Given the description of an element on the screen output the (x, y) to click on. 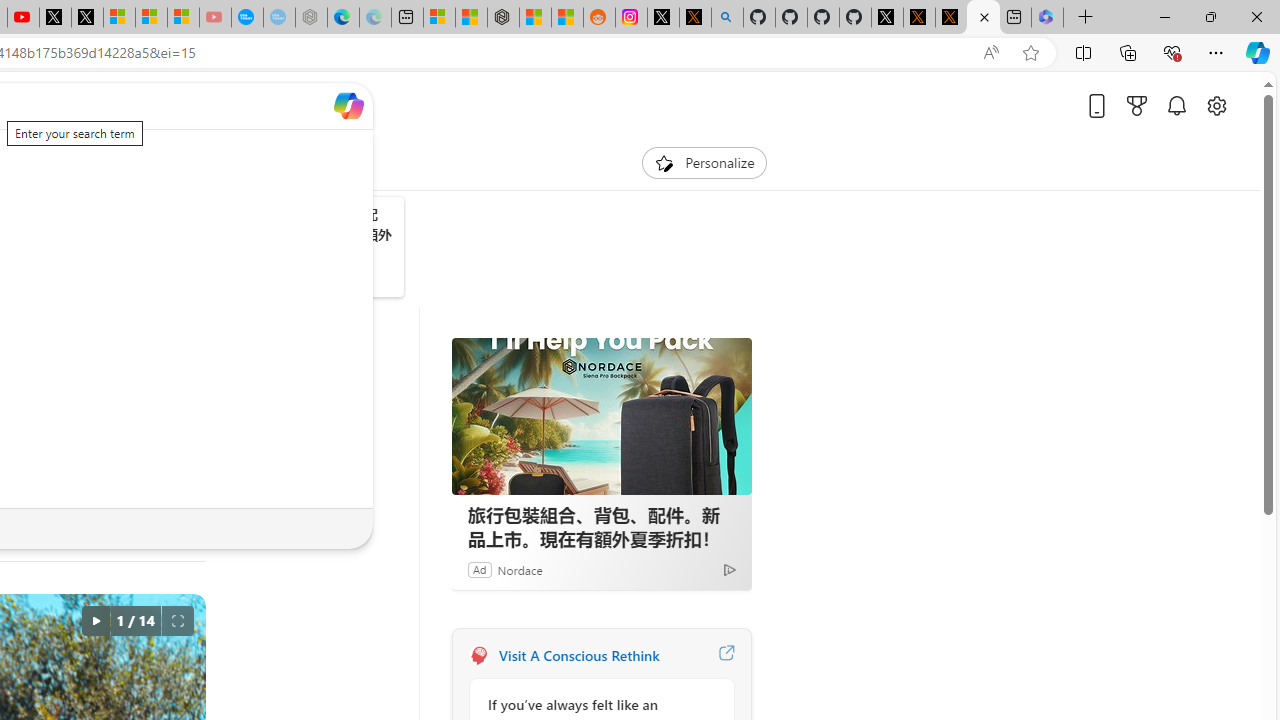
Food & Drink (234, 162)
Gloom - YouTube - Sleeping (215, 17)
Nordace - Nordace has arrived Hong Kong - Sleeping (310, 17)
anim-content (115, 255)
X Privacy Policy (950, 17)
